Given the description of an element on the screen output the (x, y) to click on. 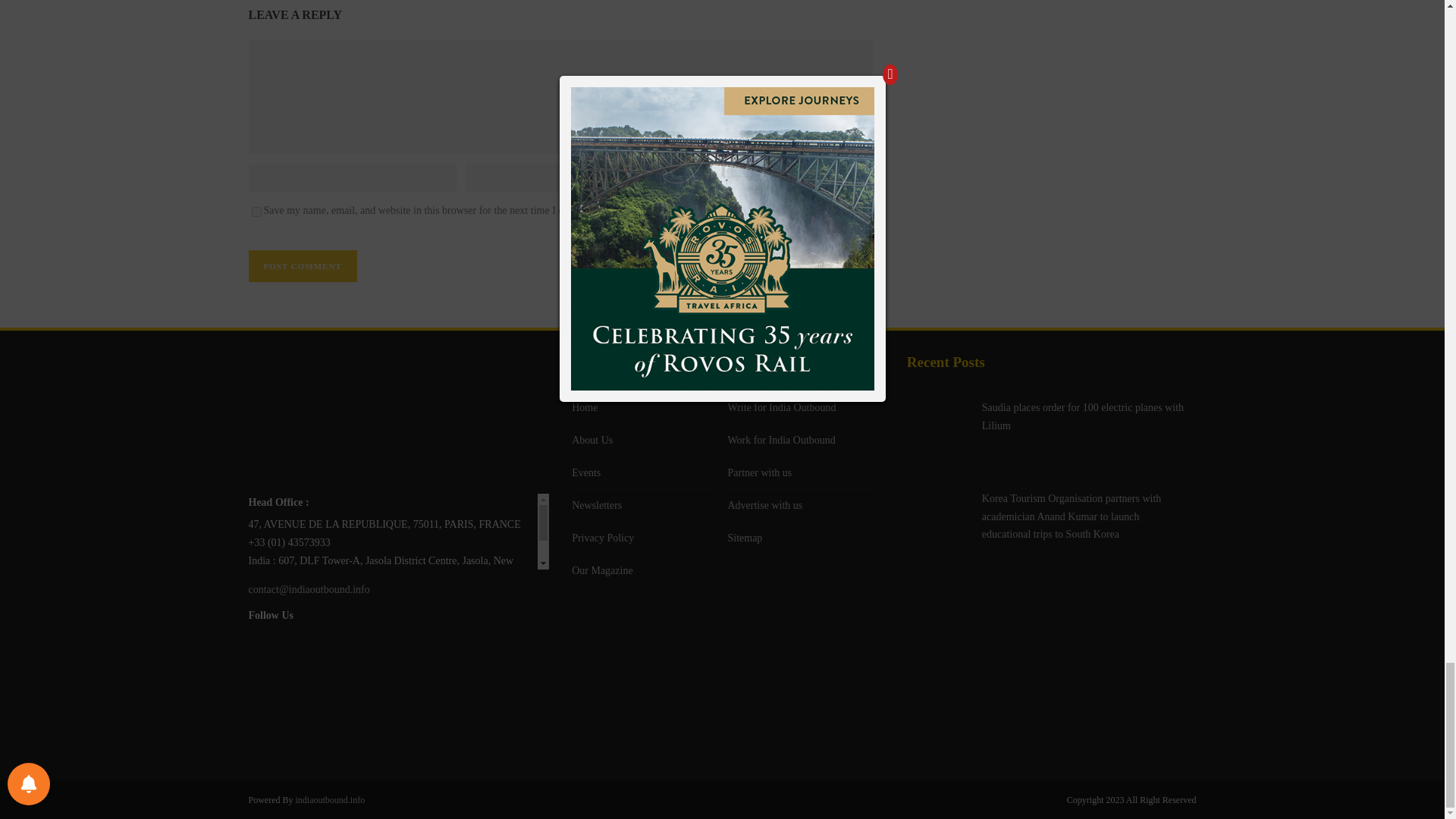
Post Comment (302, 265)
yes (256, 212)
